Given the description of an element on the screen output the (x, y) to click on. 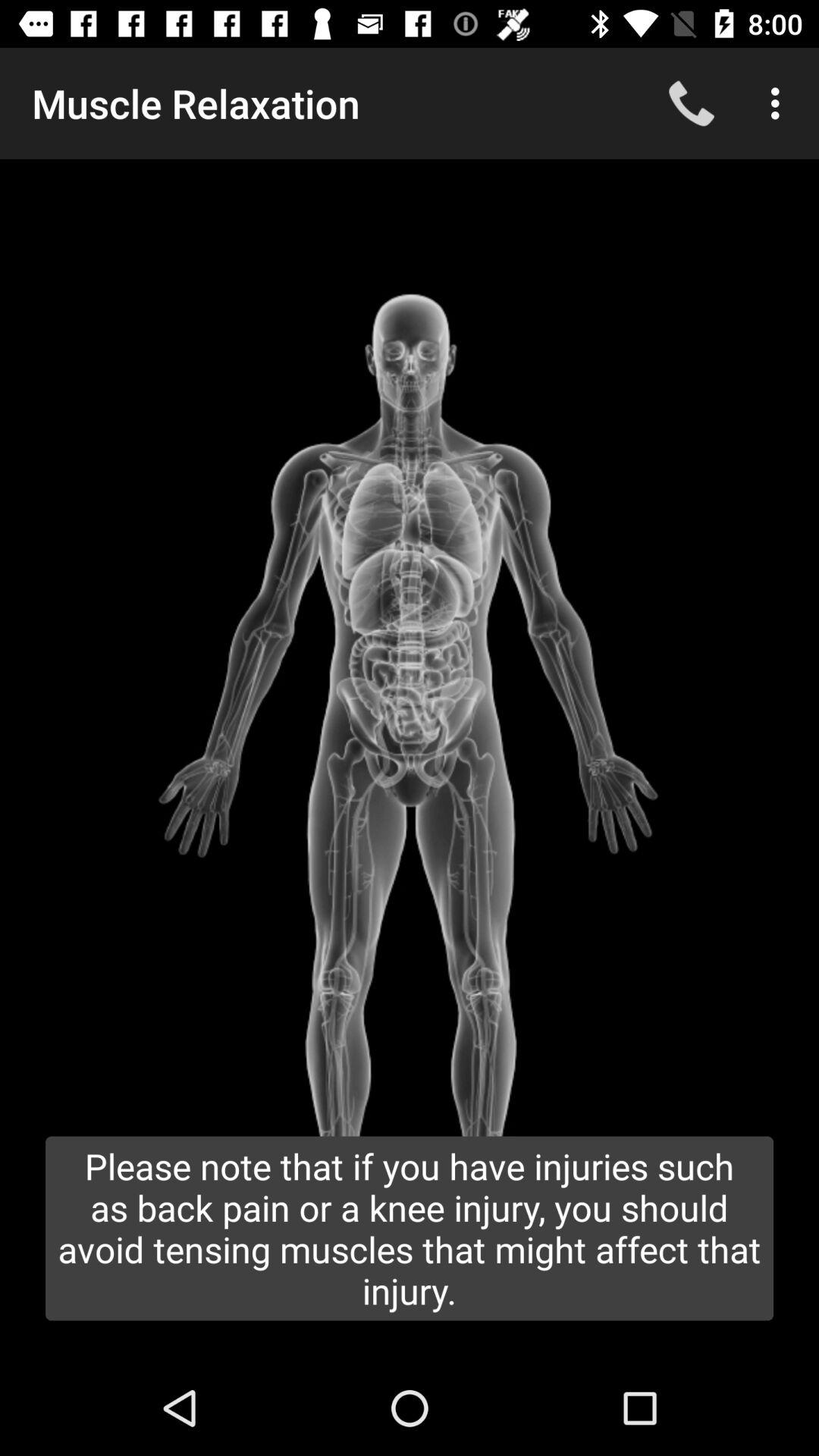
press icon to the right of muscle relaxation item (691, 103)
